Given the description of an element on the screen output the (x, y) to click on. 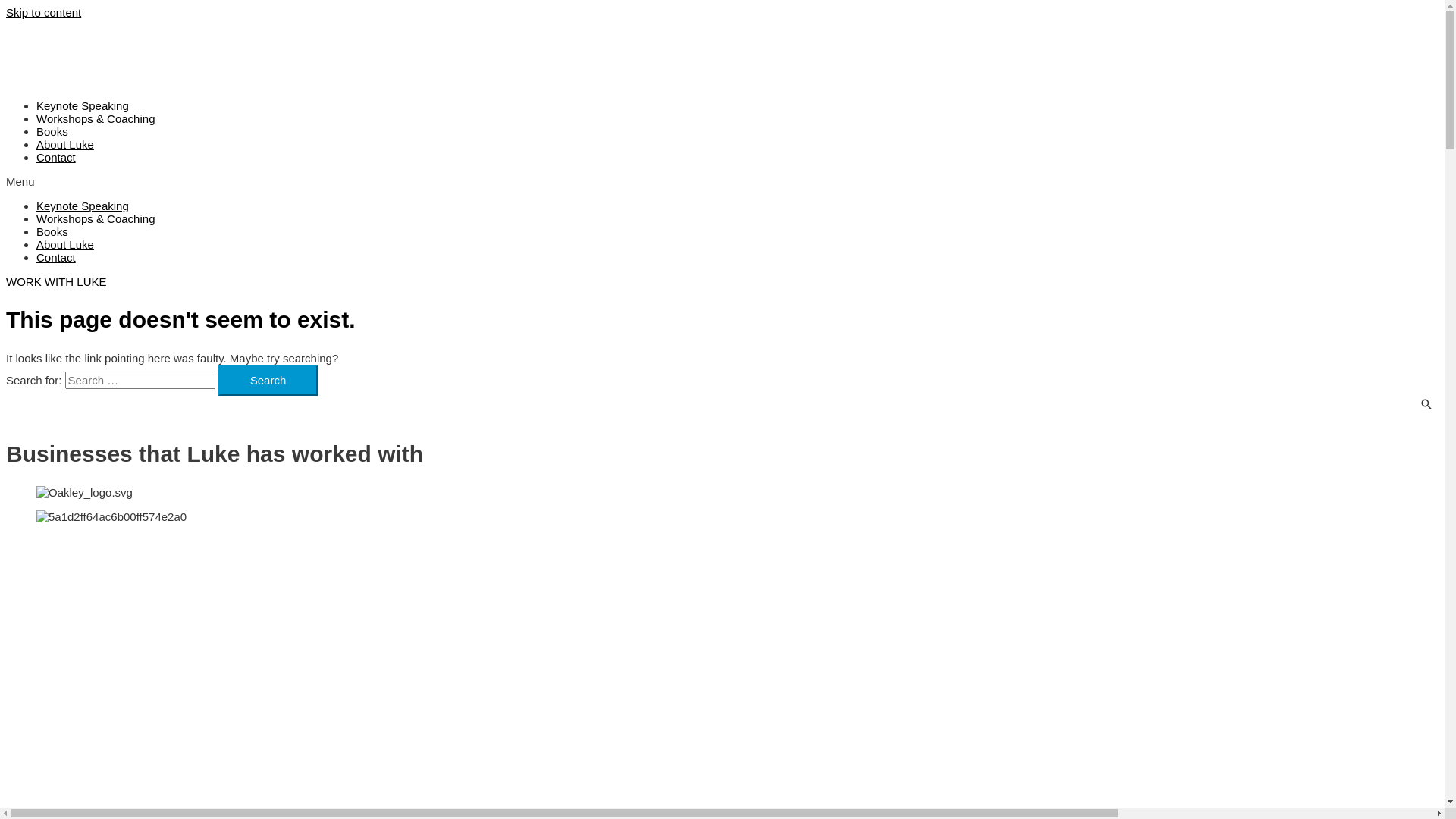
Contact Element type: text (55, 257)
Keynote Speaking Element type: text (82, 105)
About Luke Element type: text (65, 144)
Keynote Speaking Element type: text (82, 205)
Contact Element type: text (55, 156)
Books Element type: text (52, 231)
Workshops & Coaching Element type: text (95, 218)
WORK WITH LUKE Element type: text (56, 281)
Skip to content Element type: text (43, 12)
Workshops & Coaching Element type: text (95, 118)
Books Element type: text (52, 131)
Search Element type: text (268, 379)
About Luke Element type: text (65, 244)
